Given the description of an element on the screen output the (x, y) to click on. 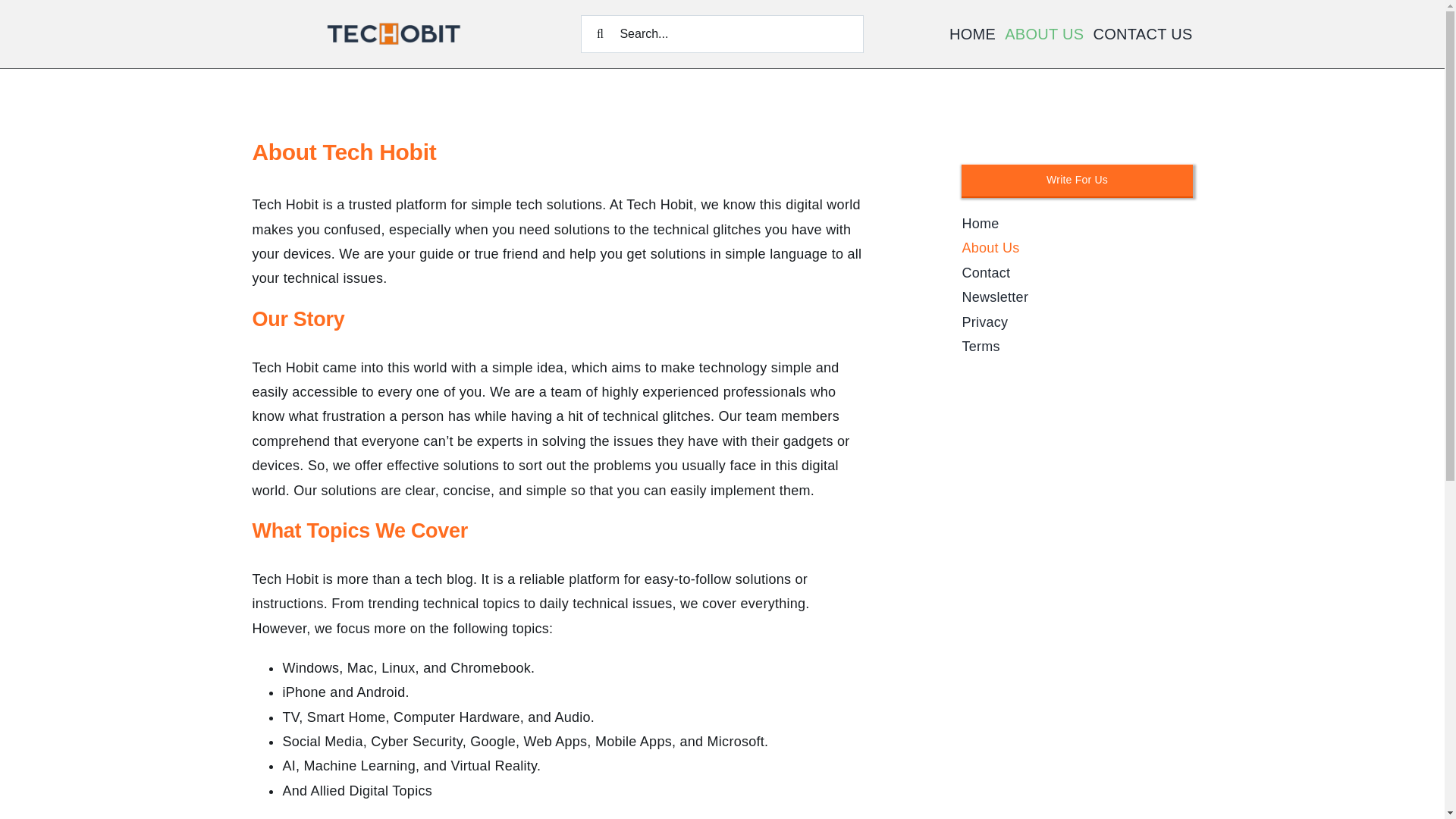
Home (1076, 223)
About Us (1076, 247)
Newsletter (1076, 297)
Privacy (1076, 322)
Contact (1076, 273)
Write For Us (1076, 179)
CONTACT US (1142, 33)
Terms (1076, 346)
HOME (972, 33)
ABOUT US (1043, 33)
